Given the description of an element on the screen output the (x, y) to click on. 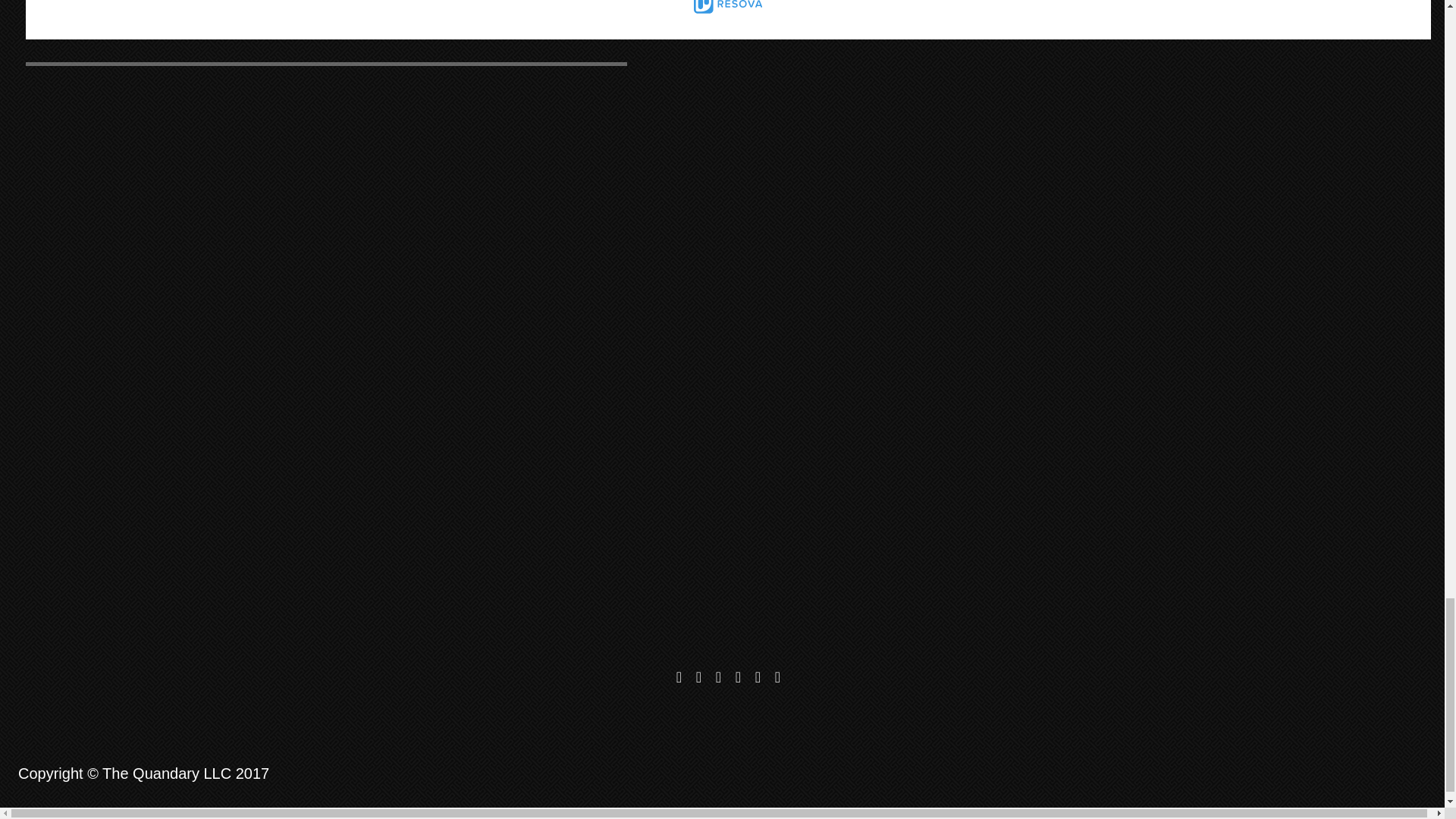
ESCAPE ROOM BOOKING SOFTWARE BY (727, 6)
